Given the description of an element on the screen output the (x, y) to click on. 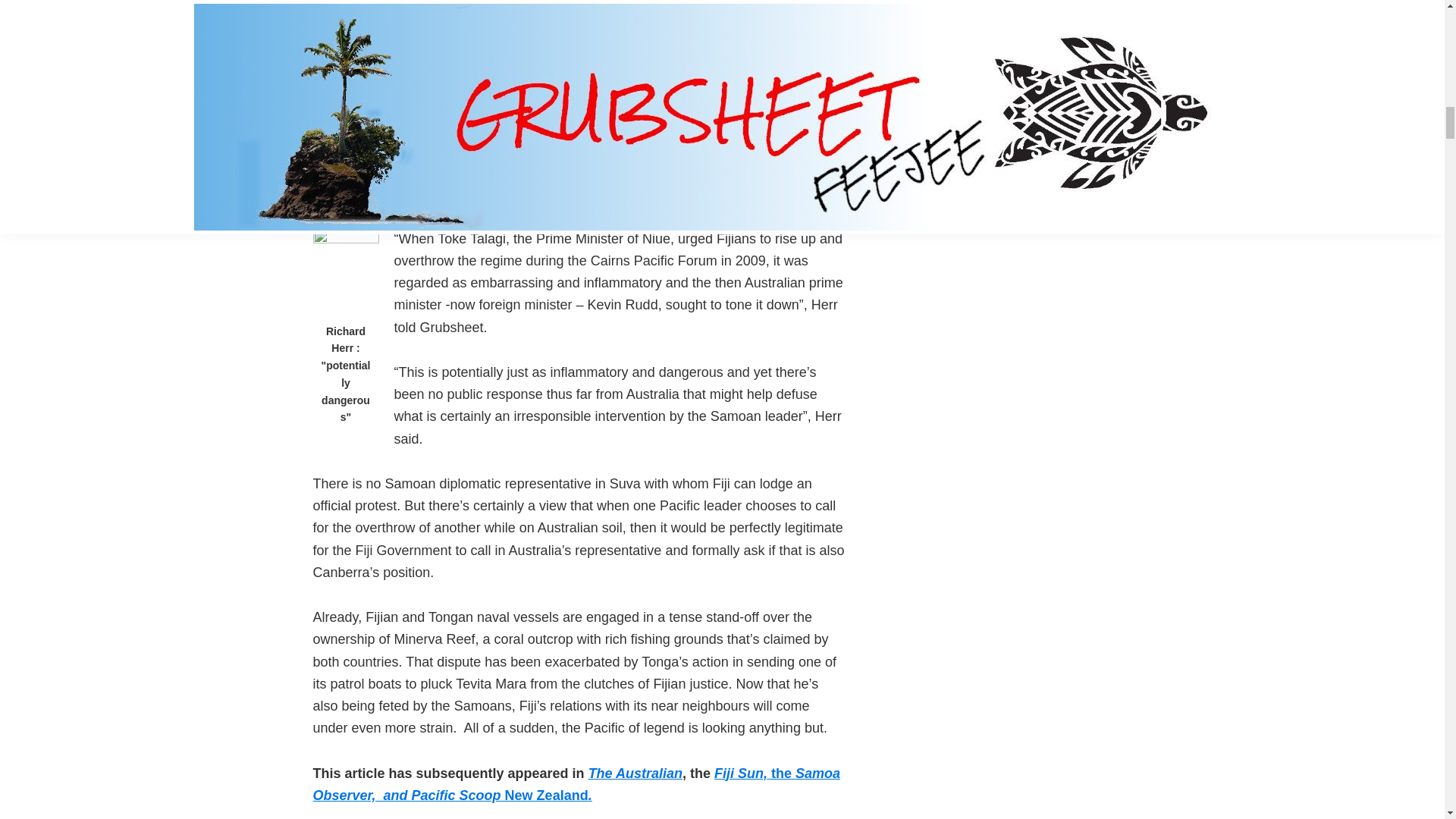
The Australian (635, 773)
Samoa Observer,  and Pacific Scoop New Zealand. (576, 784)
Richard Herr tasmaniantimes (345, 271)
Fiji Sun, the (754, 773)
